Given the description of an element on the screen output the (x, y) to click on. 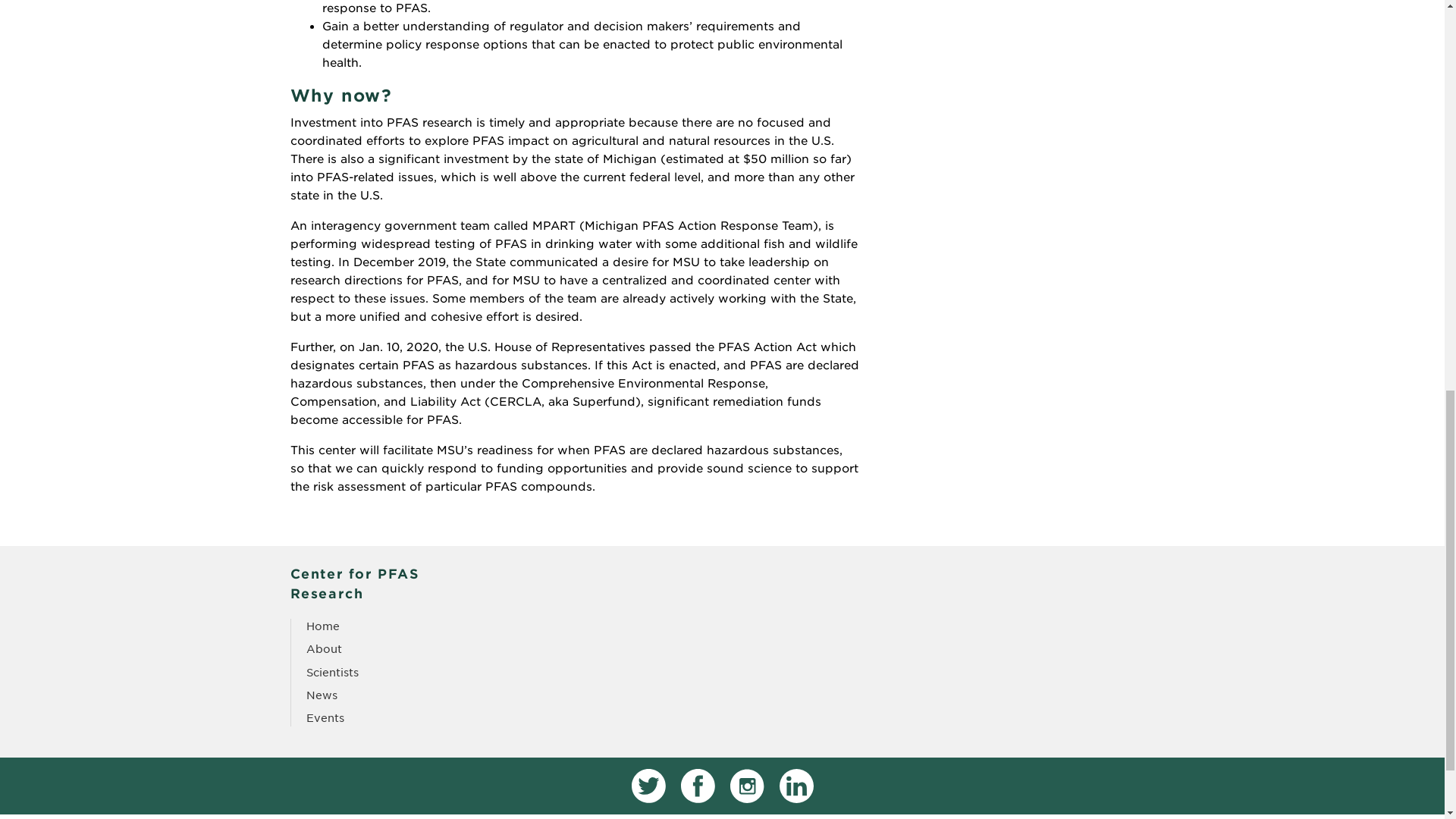
Events (324, 717)
Scientists (331, 672)
About (323, 648)
Home (322, 625)
News (321, 695)
